Given the description of an element on the screen output the (x, y) to click on. 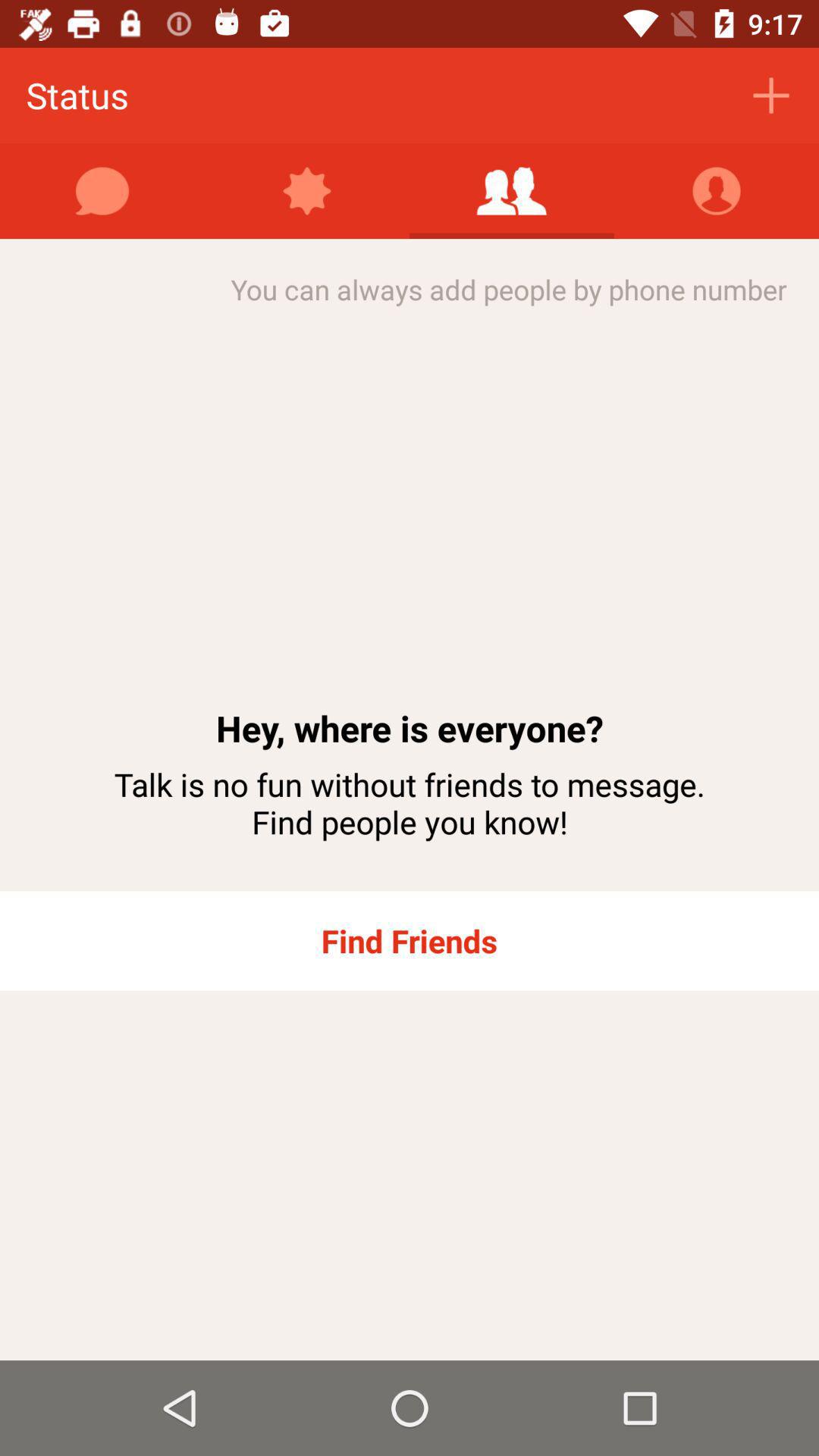
choose the item below people item (102, 190)
